Given the description of an element on the screen output the (x, y) to click on. 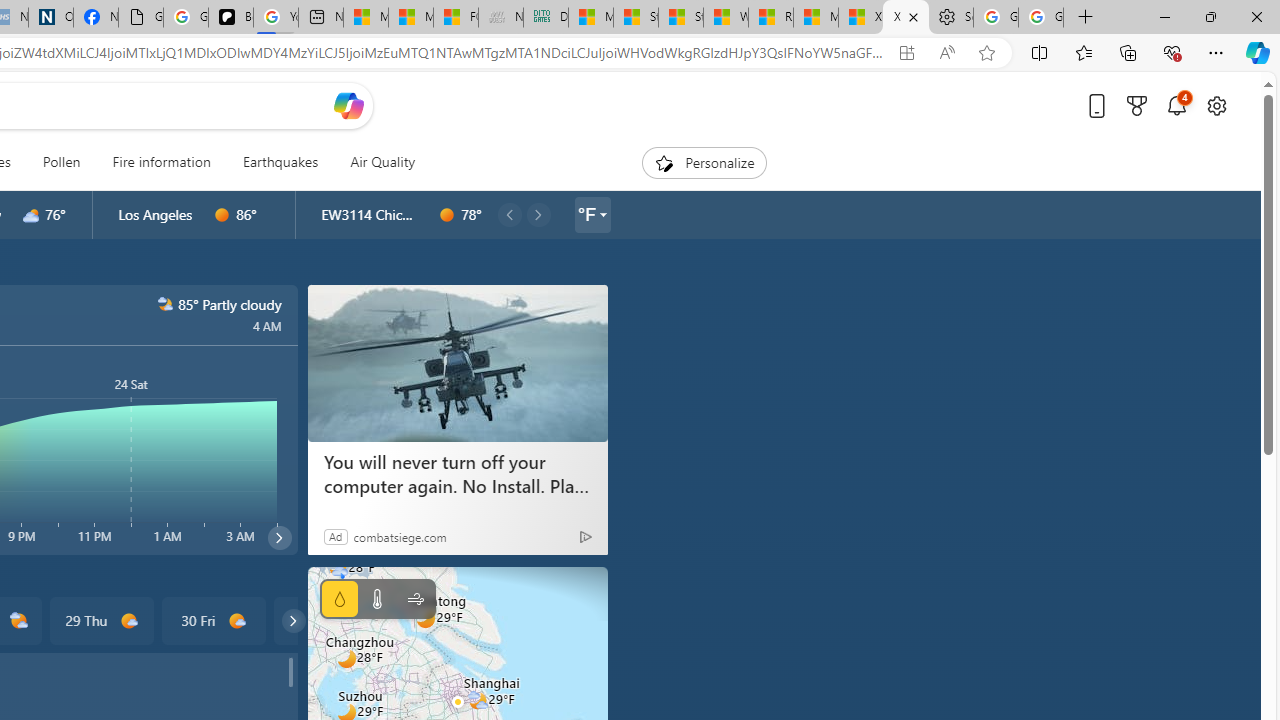
Air Quality (382, 162)
Earthquakes (279, 162)
d0000 (447, 215)
31 Sat d1000 (324, 620)
d2000 (19, 621)
d3000 (31, 215)
